Given the description of an element on the screen output the (x, y) to click on. 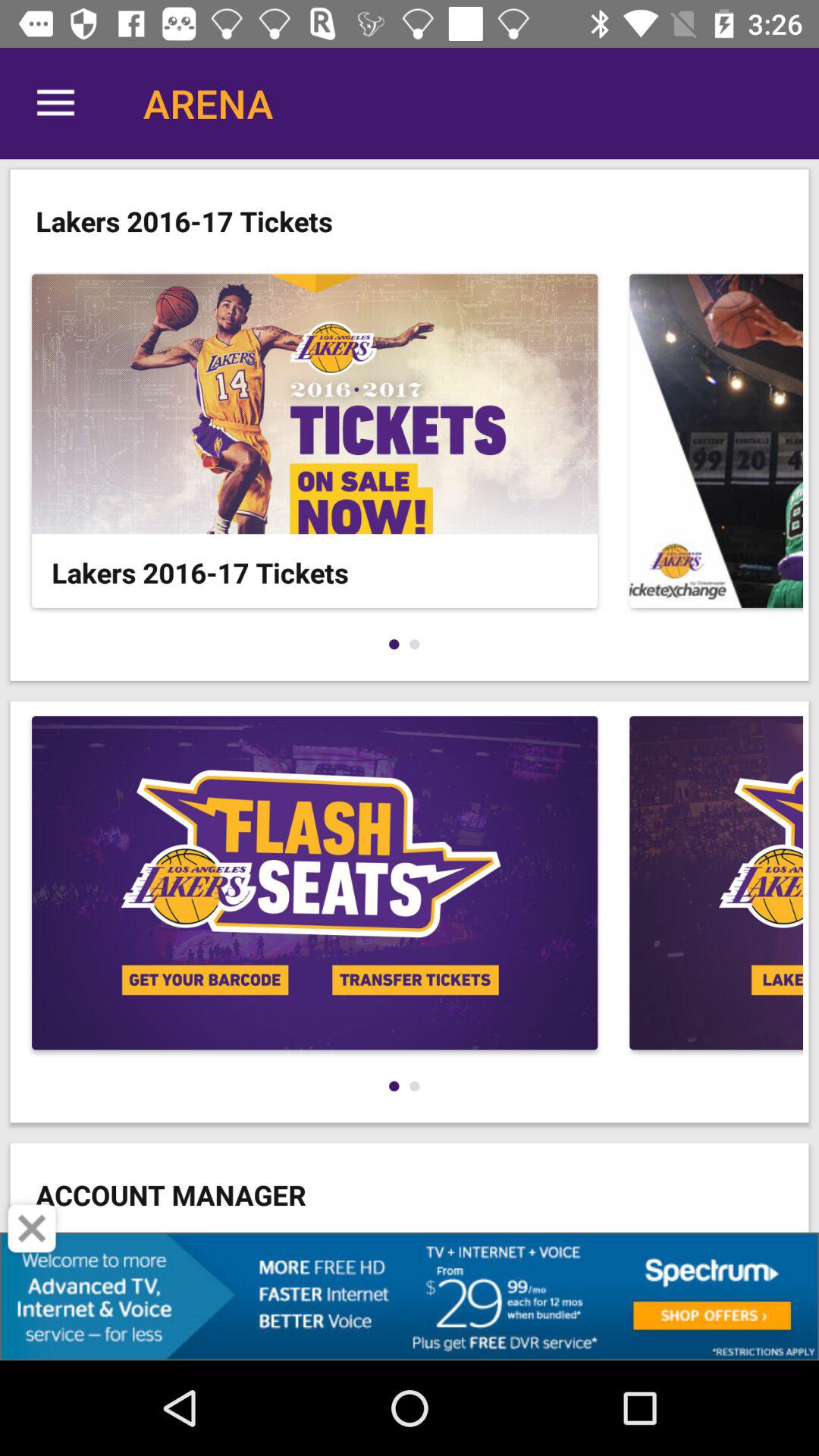
press the icon to the left of the arena item (55, 103)
